Given the description of an element on the screen output the (x, y) to click on. 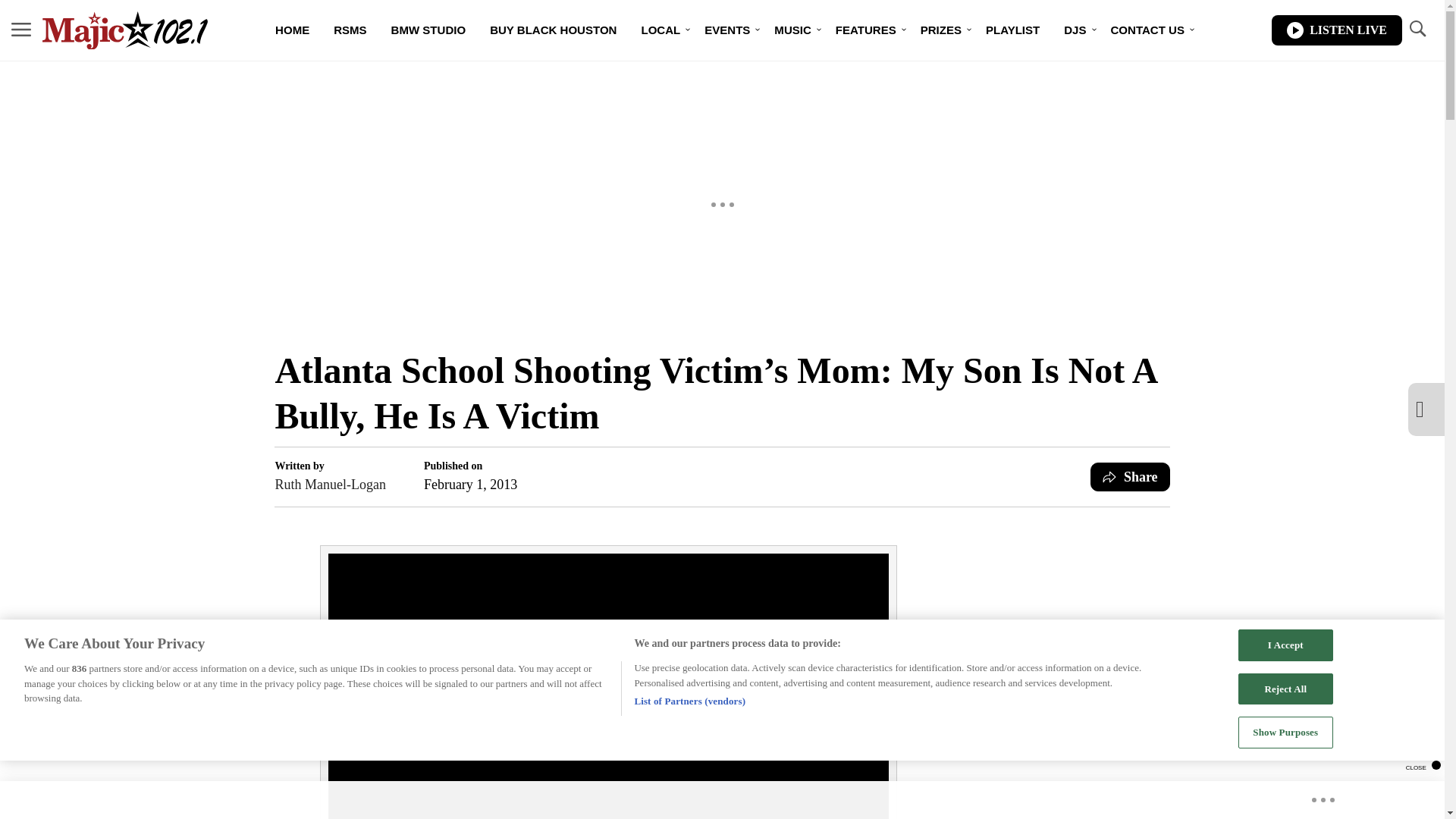
MUSIC (791, 30)
FEATURES (866, 30)
EVENTS (727, 30)
PLAYLIST (1012, 30)
PRIZES (941, 30)
MENU (20, 30)
HOME (292, 30)
RSMS (349, 30)
BUY BLACK HOUSTON (552, 30)
CONTACT US (1147, 30)
BMW STUDIO (428, 30)
LOCAL (660, 30)
MENU (20, 29)
TOGGLE SEARCH (1417, 28)
